Given the description of an element on the screen output the (x, y) to click on. 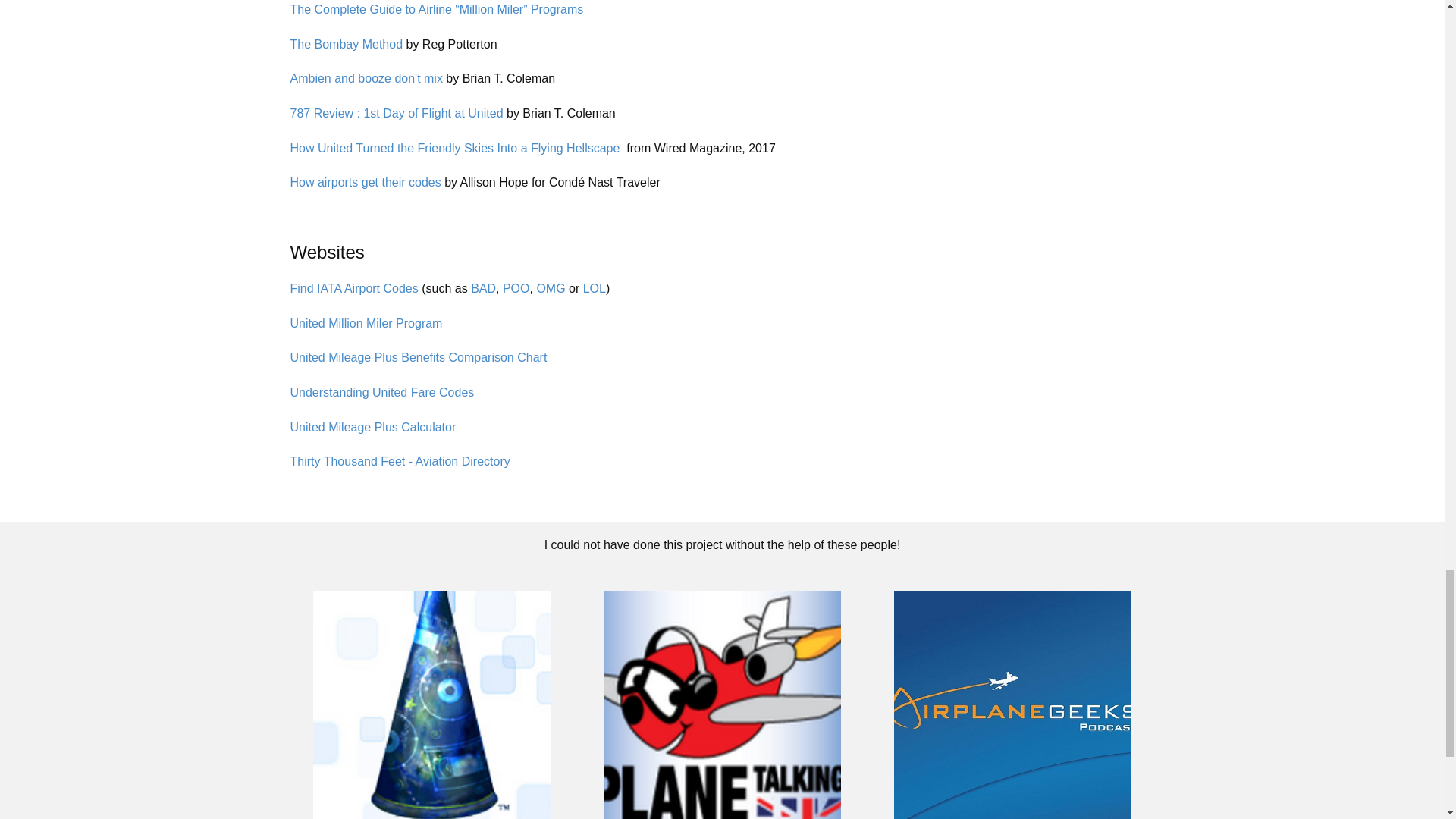
The Bombay Method (346, 44)
787 Review : 1st Day of Flight at United (395, 113)
Find IATA Airport Codes (353, 288)
Ambien and booze don't mix (365, 78)
How airports get their codes (365, 182)
